Given the description of an element on the screen output the (x, y) to click on. 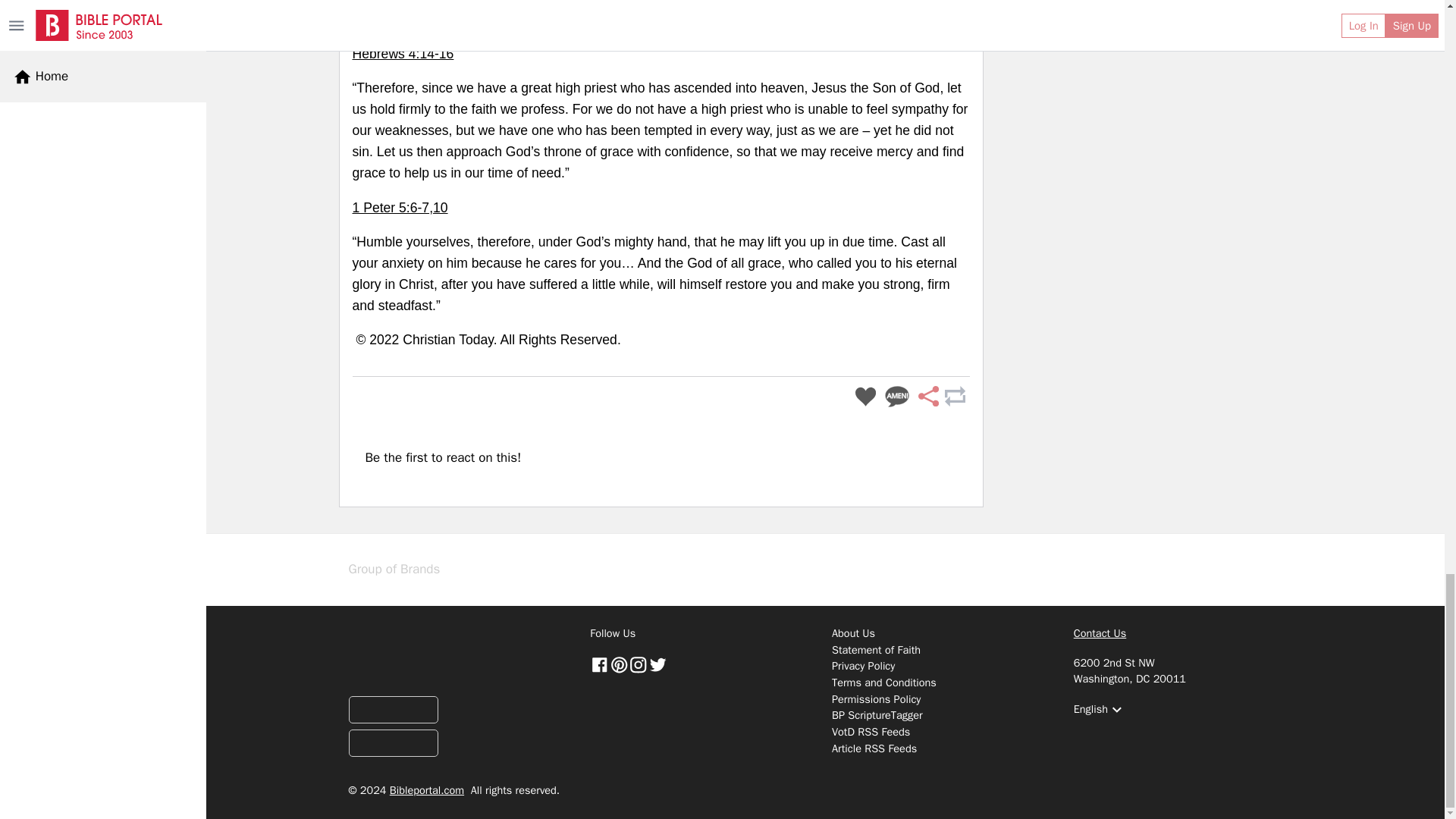
Repost (954, 396)
Amen (897, 396)
Like (865, 396)
